Given the description of an element on the screen output the (x, y) to click on. 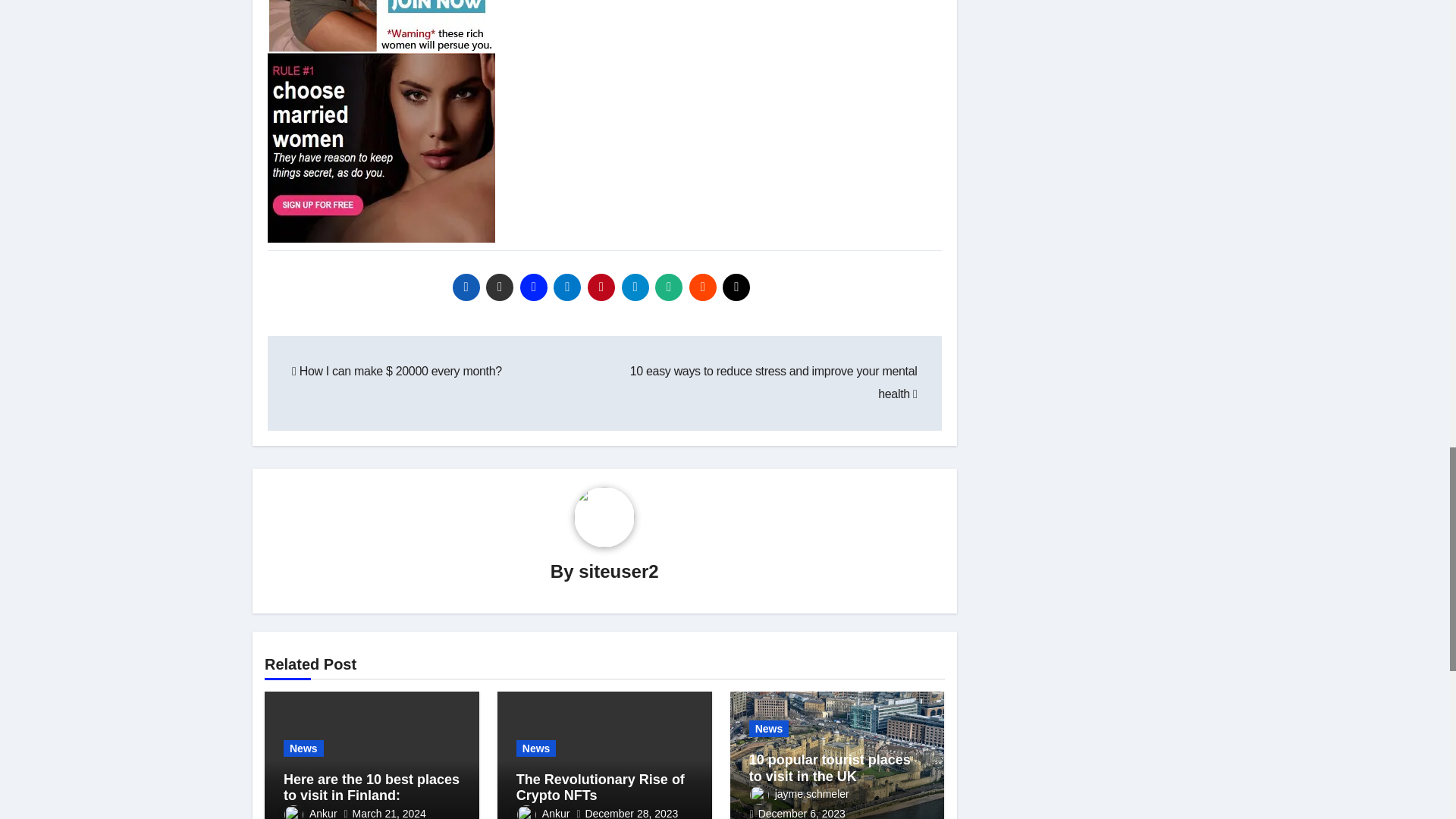
News (303, 748)
March 21, 2024 (389, 813)
Permalink to: The Revolutionary Rise of Crypto NFTs (600, 787)
The Revolutionary Rise of Crypto NFTs (600, 787)
Ankur (310, 813)
Here are the 10 best places to visit in Finland: (371, 787)
Permalink to: 10 popular tourist places to visit in the UK (830, 767)
News (536, 748)
10 easy ways to reduce stress and improve your mental health (773, 382)
siteuser2 (618, 571)
Ankur (543, 813)
